Given the description of an element on the screen output the (x, y) to click on. 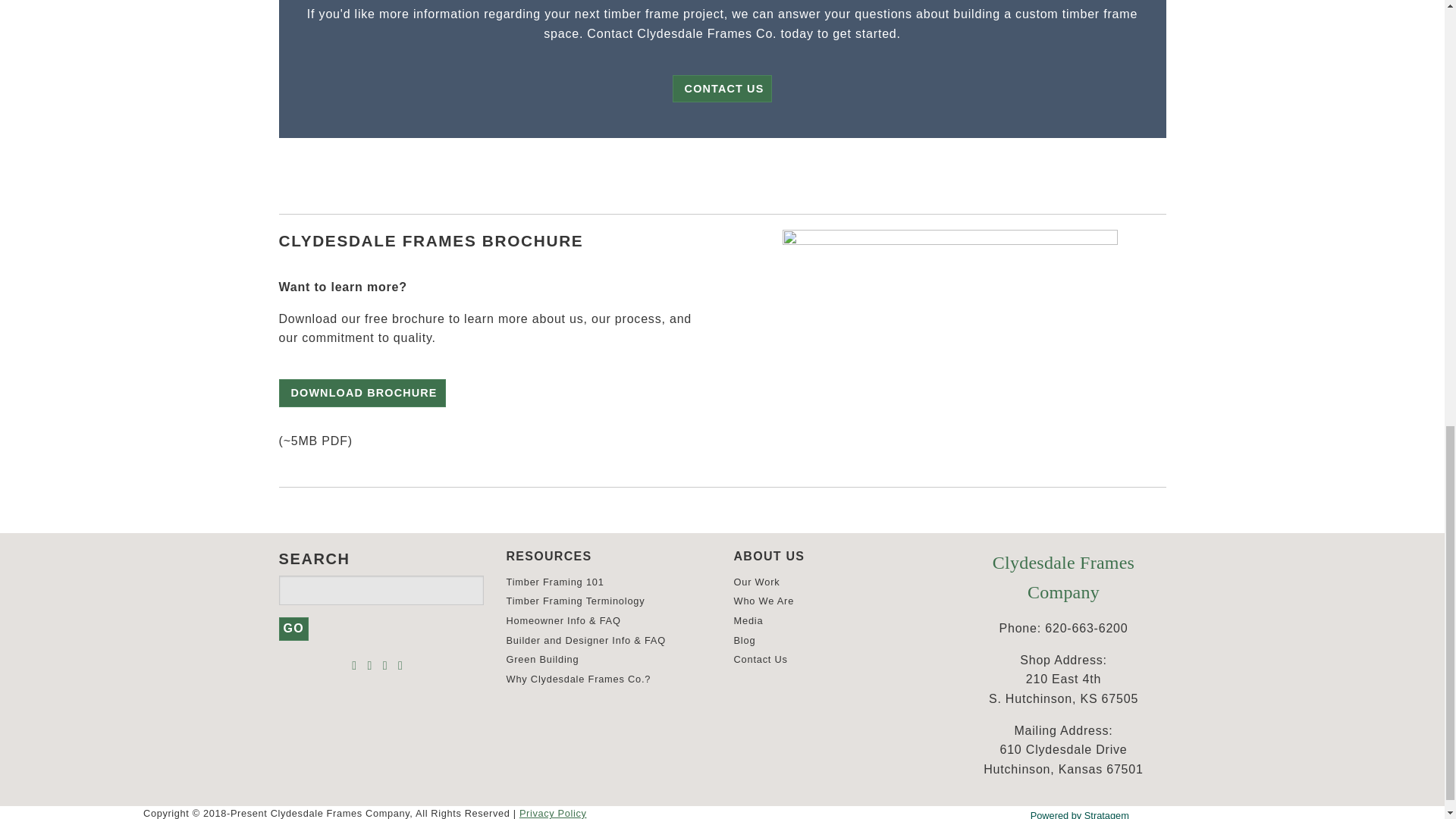
Timber Framing 101 (555, 582)
Who We Are (763, 600)
CONTACT US (722, 88)
Why Clydesdale Frames Co.? (578, 678)
Go (293, 628)
Timber Framing Terminology (575, 600)
Go (293, 628)
Our Work (756, 582)
Go (293, 628)
DOWNLOAD BROCHURE (362, 392)
